Given the description of an element on the screen output the (x, y) to click on. 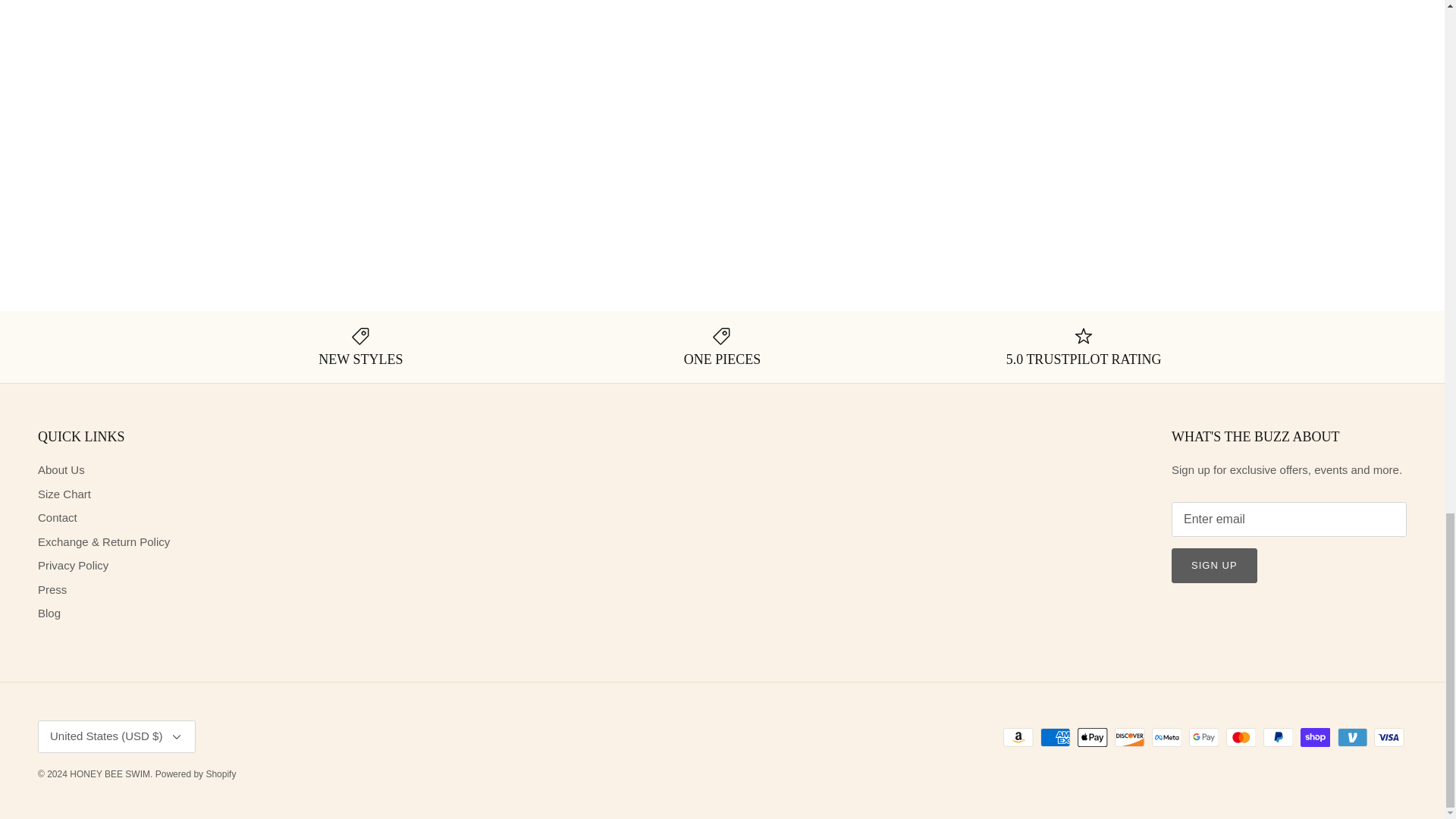
Google Pay (1203, 737)
Discover (1129, 737)
Apple Pay (1092, 737)
Amazon (1018, 737)
Meta Pay (1166, 737)
American Express (1055, 737)
Mastercard (1240, 737)
PayPal (1277, 737)
